Given the description of an element on the screen output the (x, y) to click on. 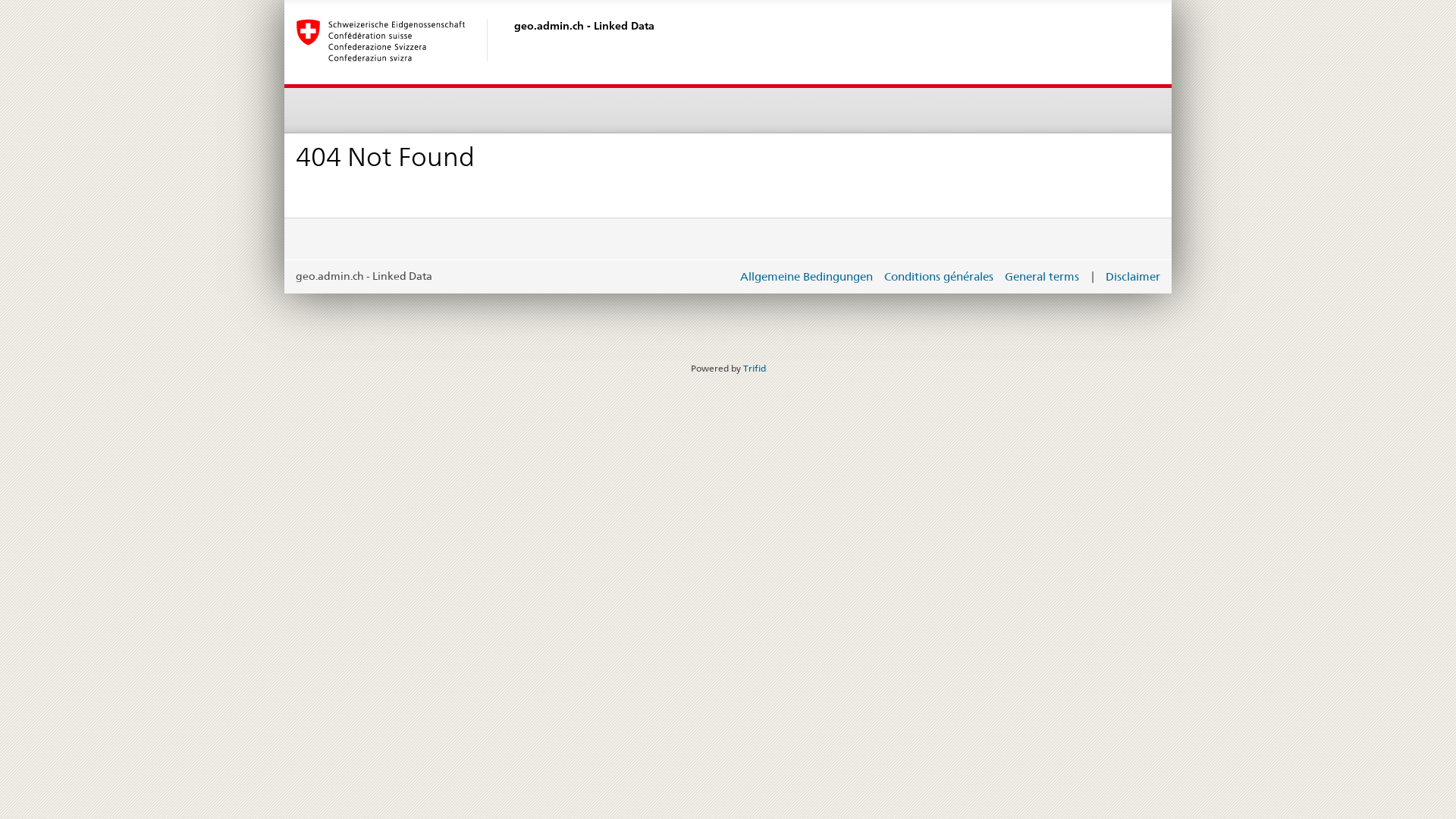
General terms Element type: text (1041, 276)
Trifid Element type: text (754, 367)
Allgemeine Bedingungen Element type: text (806, 276)
Disclaimer Element type: text (1132, 276)
